Given the description of an element on the screen output the (x, y) to click on. 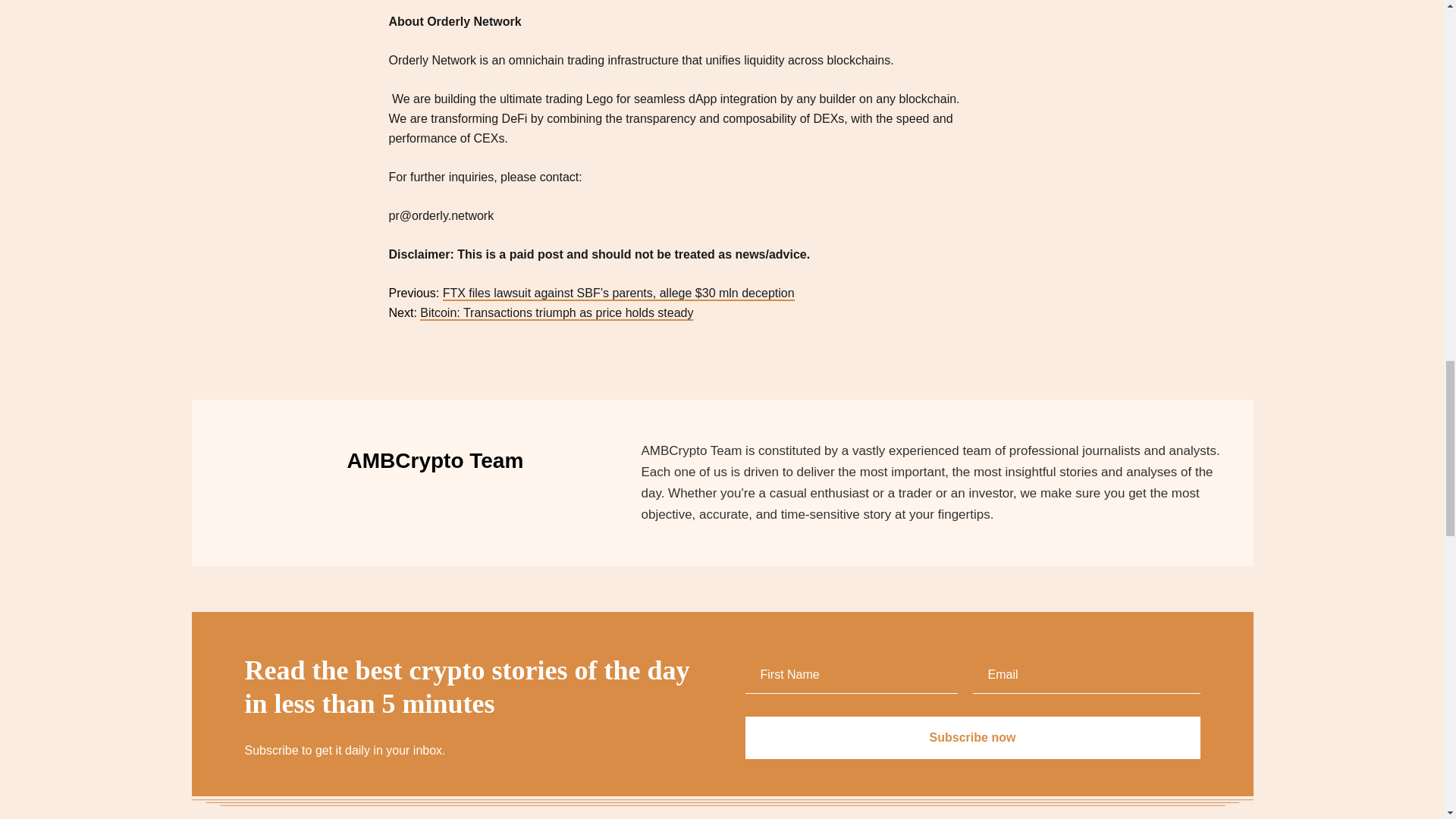
Subscribe now (971, 737)
